Given the description of an element on the screen output the (x, y) to click on. 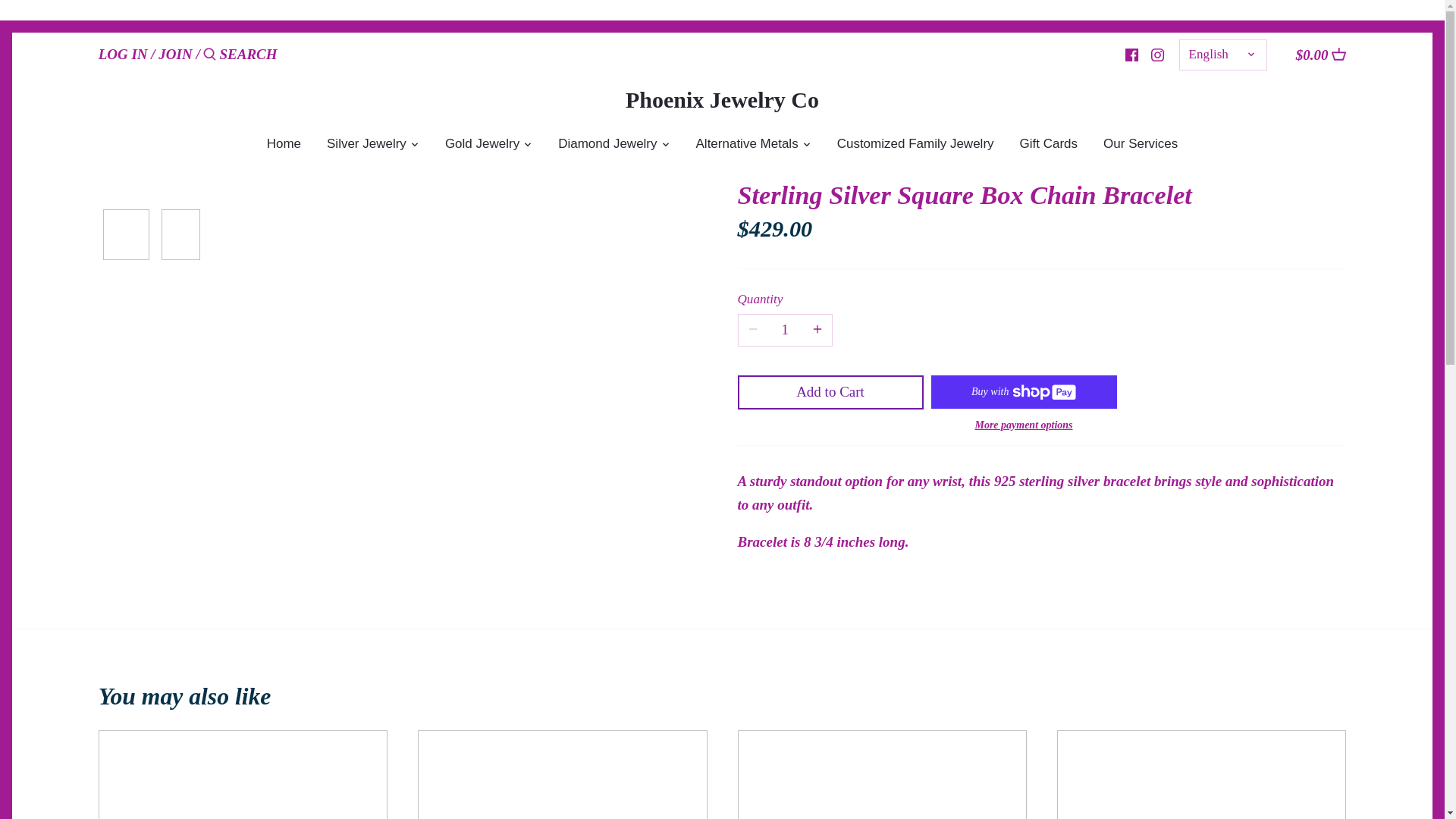
INSTAGRAM (1157, 53)
LOG IN (123, 53)
INSTAGRAM (1157, 54)
English (1222, 54)
FACEBOOK (1131, 54)
Silver Jewelry (366, 146)
FACEBOOK (1131, 53)
Phoenix Jewelry Co (722, 99)
JOIN (175, 53)
Gold Jewelry (482, 146)
Home (283, 146)
1 (785, 329)
